Given the description of an element on the screen output the (x, y) to click on. 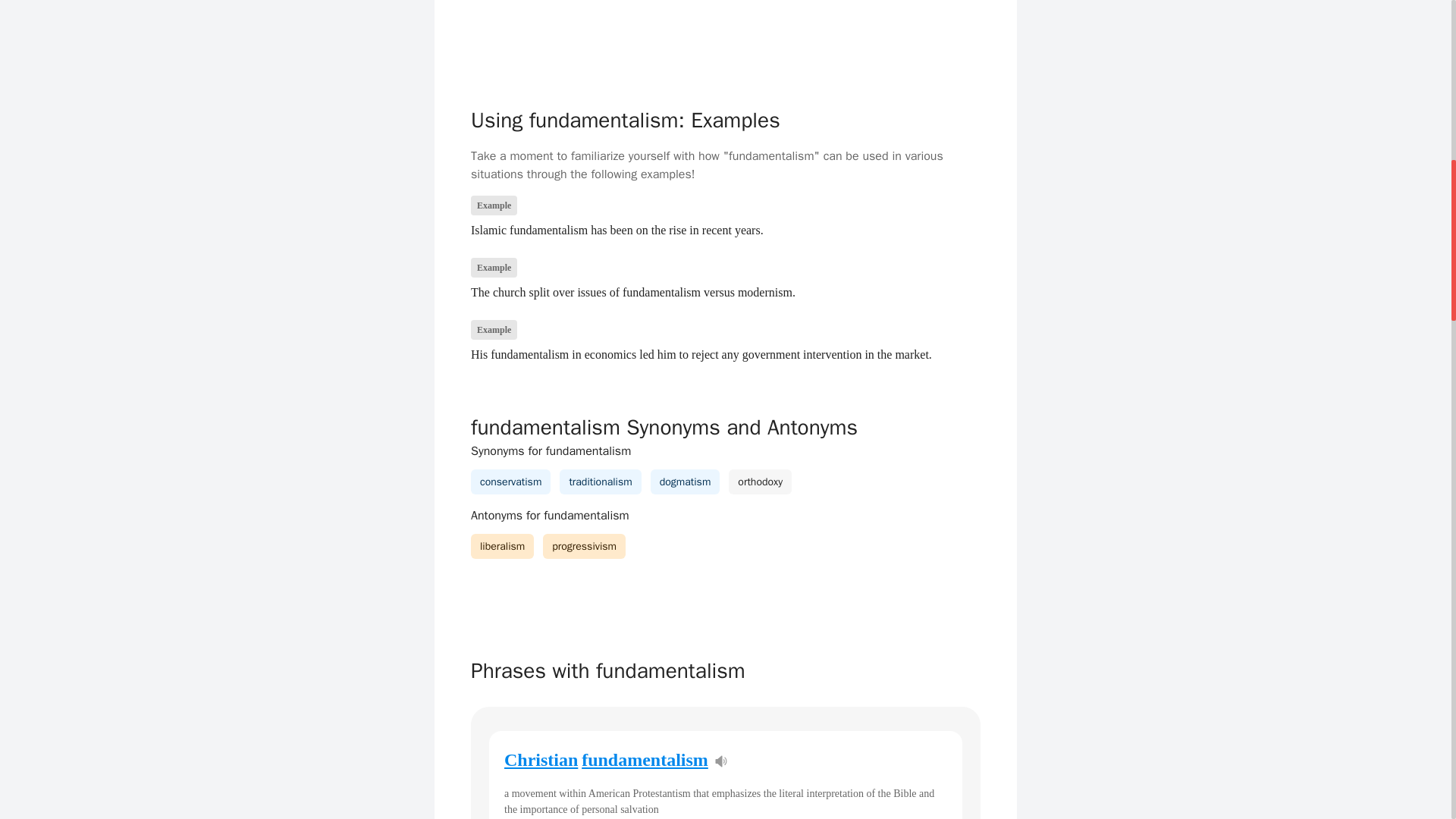
fundamentalism (643, 759)
Christian (540, 759)
dogmatism (685, 481)
Advertisement (725, 34)
liberalism (502, 545)
traditionalism (600, 481)
conservatism (510, 481)
progressivism (583, 545)
